Given the description of an element on the screen output the (x, y) to click on. 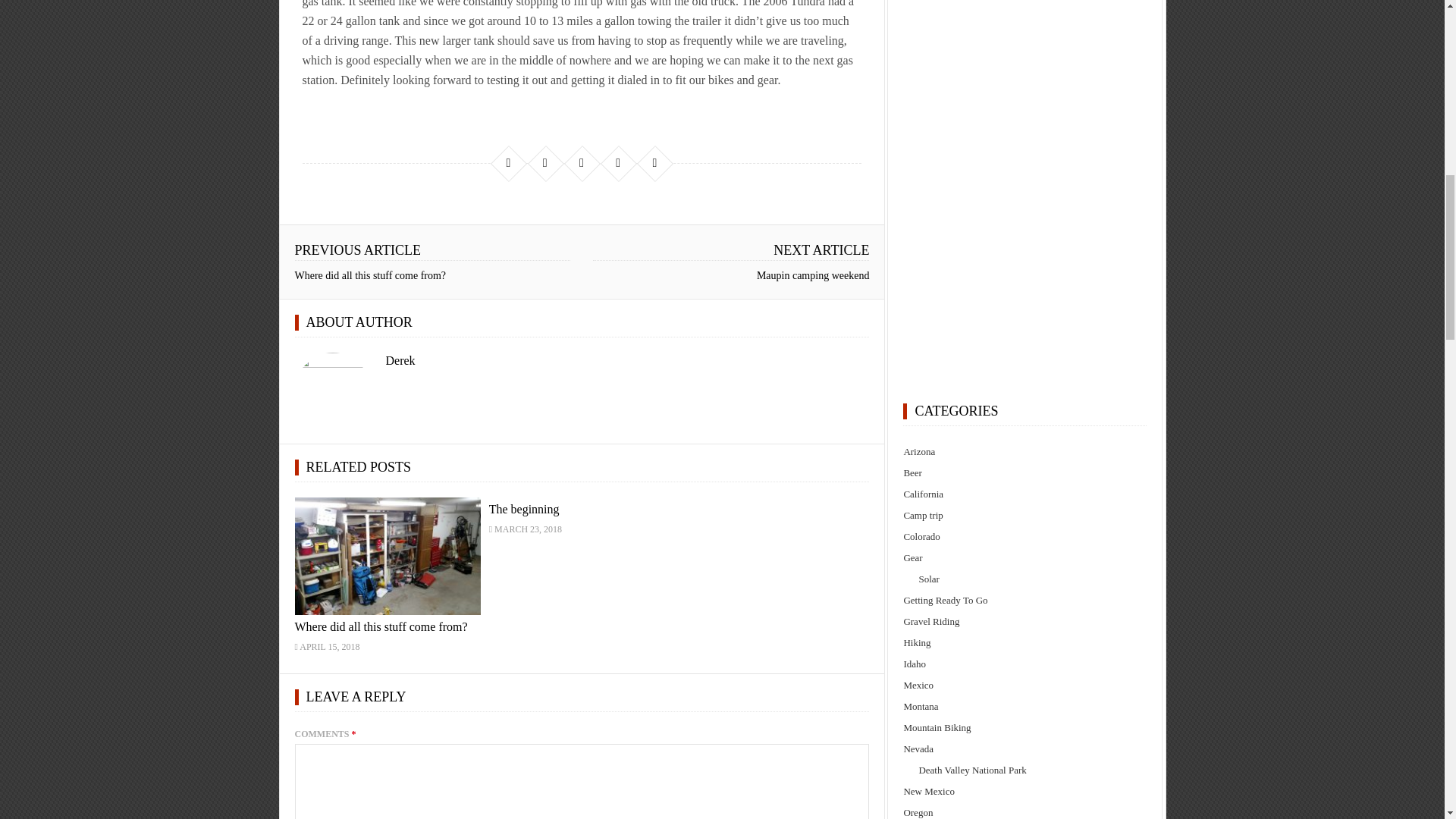
The beginning (524, 508)
Where did all this stuff come from? (369, 275)
Where did all this stuff come from? (387, 556)
The beginning (524, 508)
Where did all this stuff come from? (380, 626)
Maupin camping weekend (813, 275)
Map (1024, 187)
Where did all this stuff come from? (380, 626)
